Given the description of an element on the screen output the (x, y) to click on. 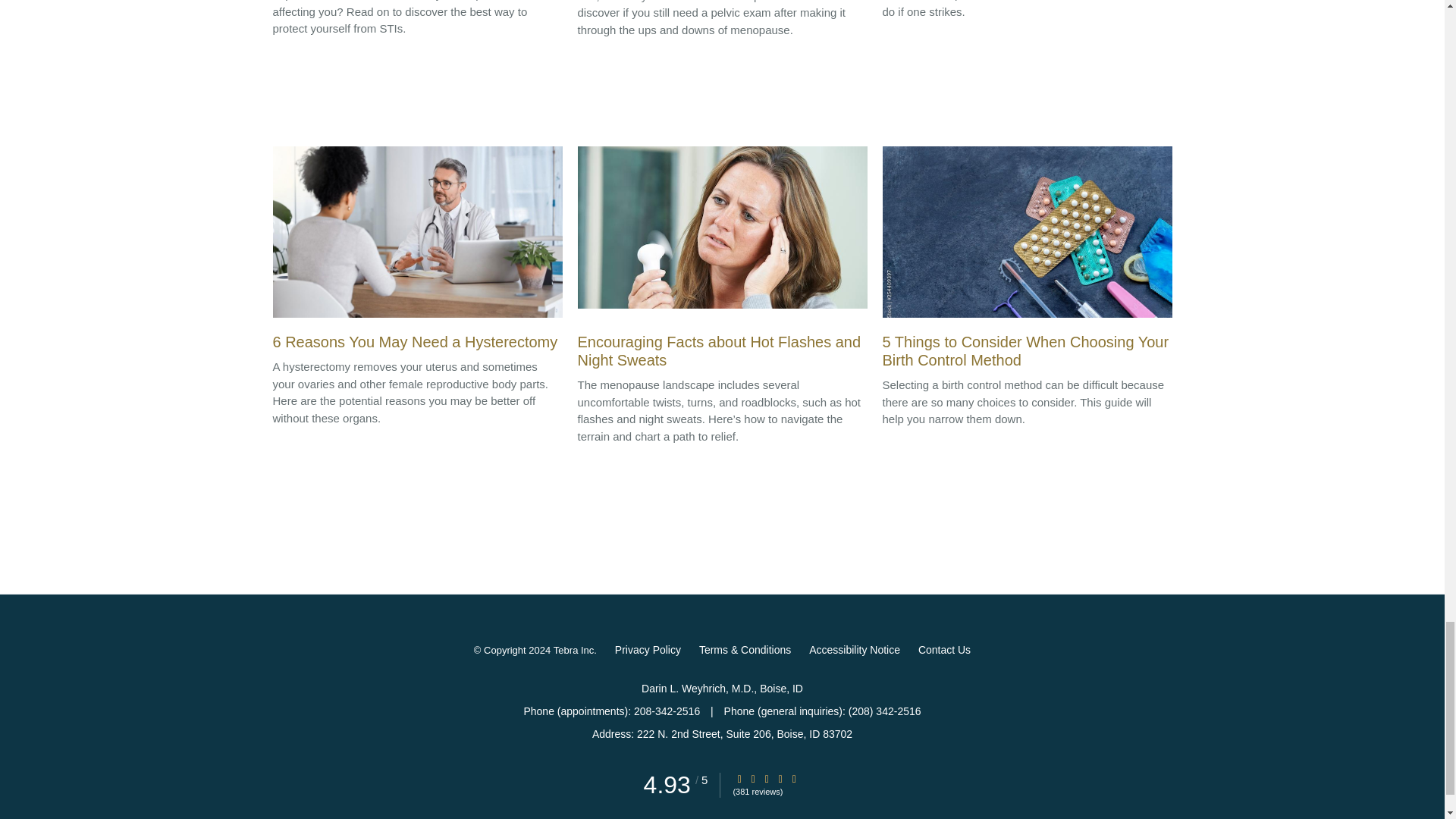
Star Rating (780, 778)
Star Rating (794, 778)
Star Rating (753, 778)
Star Rating (738, 778)
Star Rating (766, 778)
